Given the description of an element on the screen output the (x, y) to click on. 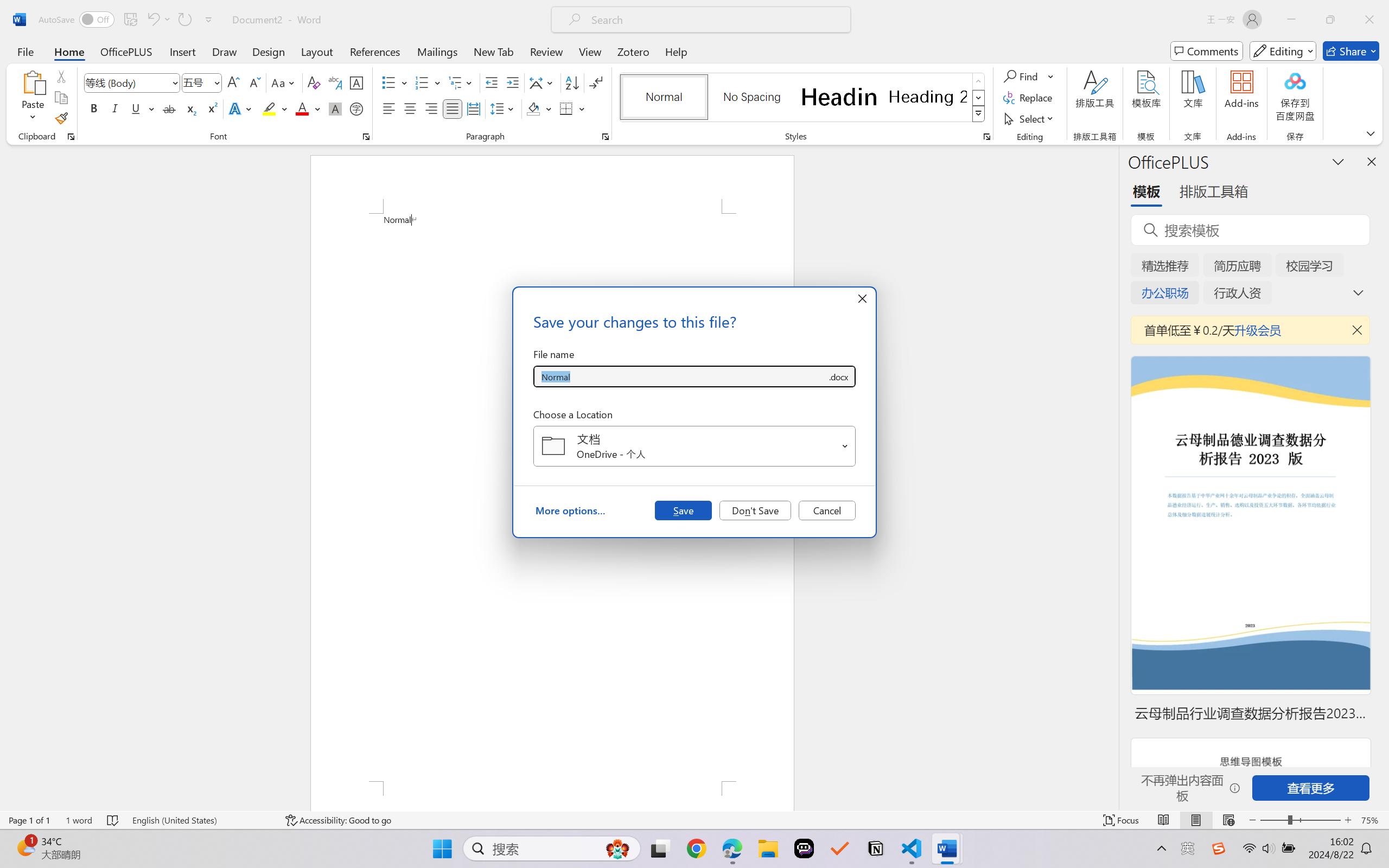
Read Mode (1163, 819)
Borders (566, 108)
Word Count 1 word (78, 819)
Text Highlight Color (274, 108)
AutomationID: BadgeAnchorLargeTicker (24, 847)
Ribbon Display Options (1370, 132)
Bullets (388, 82)
Mode (1283, 50)
Underline (142, 108)
Help (675, 51)
Center (409, 108)
Customize Quick Access Toolbar (208, 19)
